Given the description of an element on the screen output the (x, y) to click on. 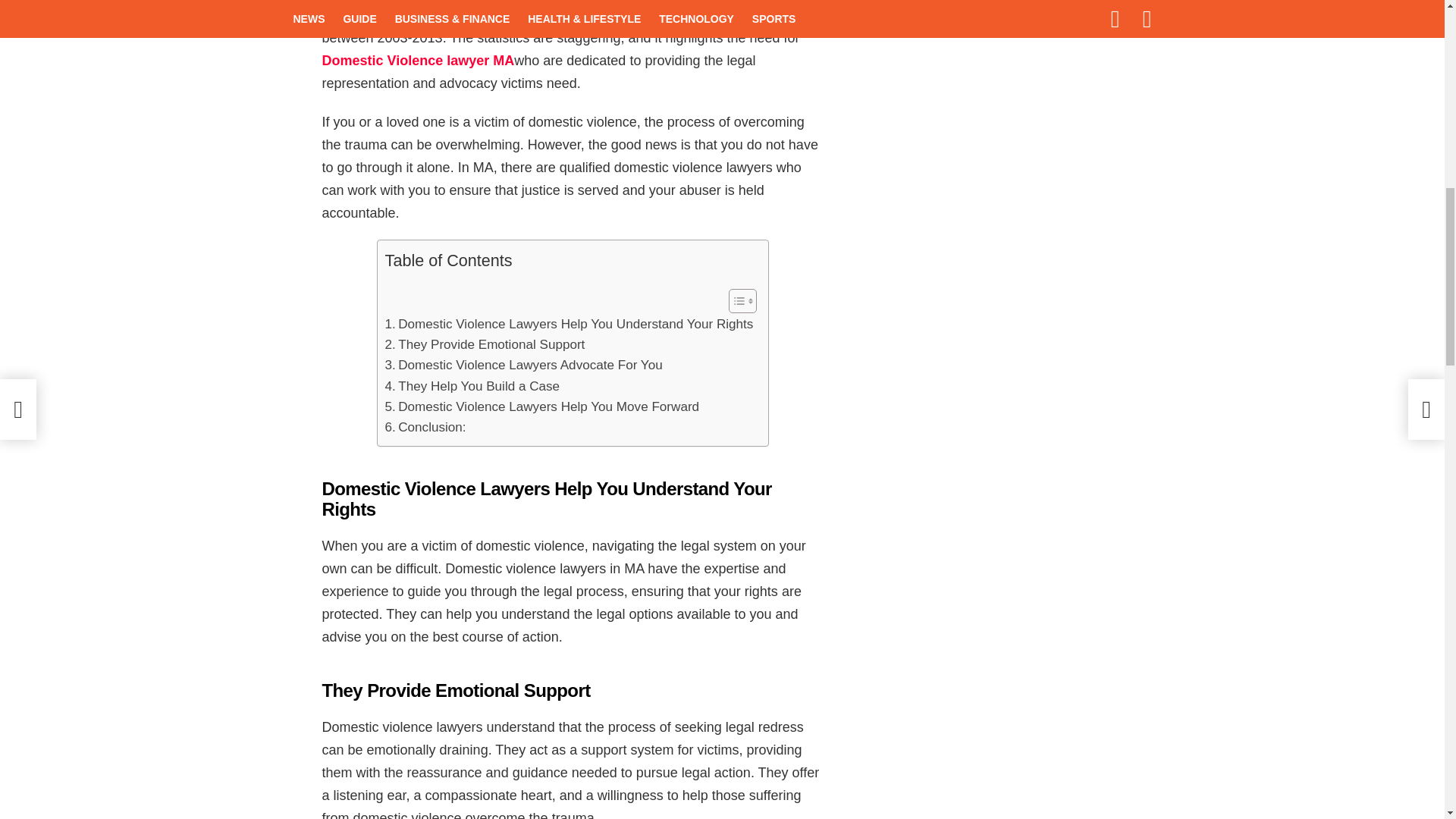
Domestic Violence Lawyers Help You Understand Your Rights (569, 323)
Conclusion: (425, 426)
They Help You Build a Case (472, 385)
They Provide Emotional Support (485, 344)
They Help You Build a Case (472, 385)
Domestic Violence Lawyers Help You Move Forward (542, 406)
Conclusion: (425, 426)
They Provide Emotional Support (485, 344)
Domestic Violence Lawyers Help You Move Forward (542, 406)
Domestic Violence Lawyers Advocate For You (523, 364)
Domestic Violence lawyer MA (417, 60)
Domestic Violence Lawyers Advocate For You (523, 364)
Domestic Violence Lawyers Help You Understand Your Rights (569, 323)
